Given the description of an element on the screen output the (x, y) to click on. 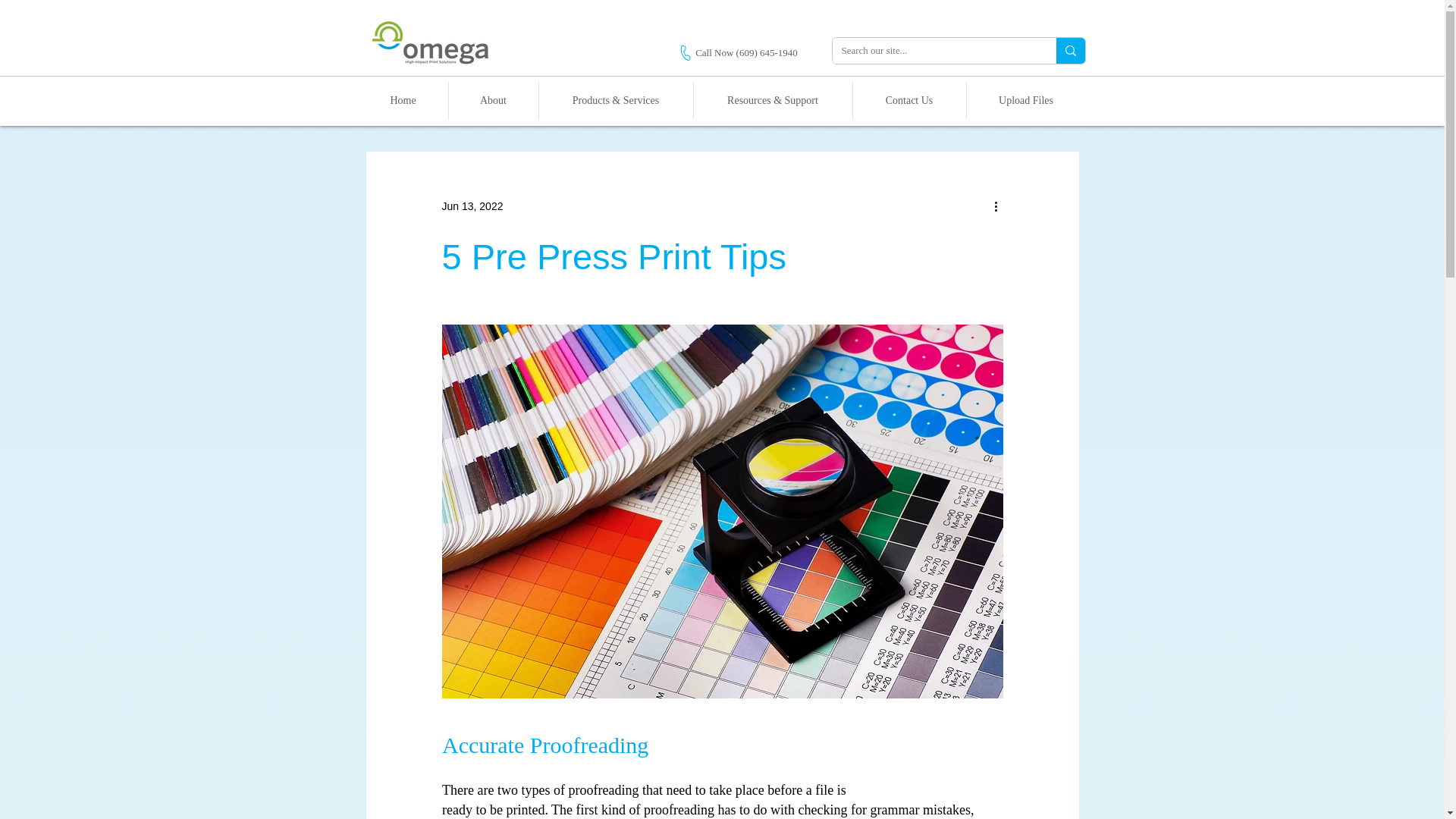
Upload Files (1025, 100)
Jun 13, 2022 (471, 205)
Contact Us (908, 100)
Home (402, 100)
